Given the description of an element on the screen output the (x, y) to click on. 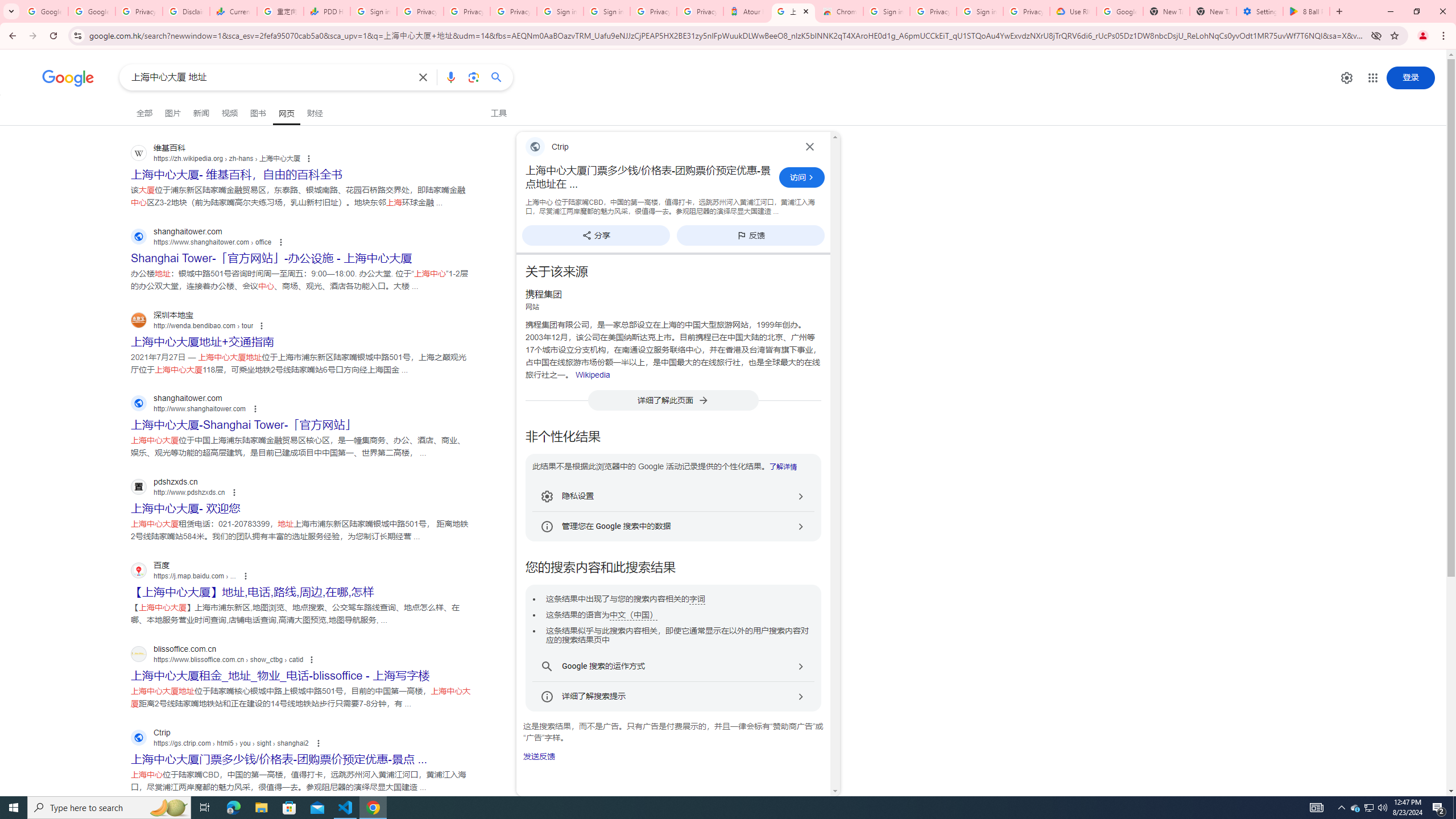
Atour Hotel - Google hotels (745, 11)
Google Workspace Admin Community (44, 11)
